Given the description of an element on the screen output the (x, y) to click on. 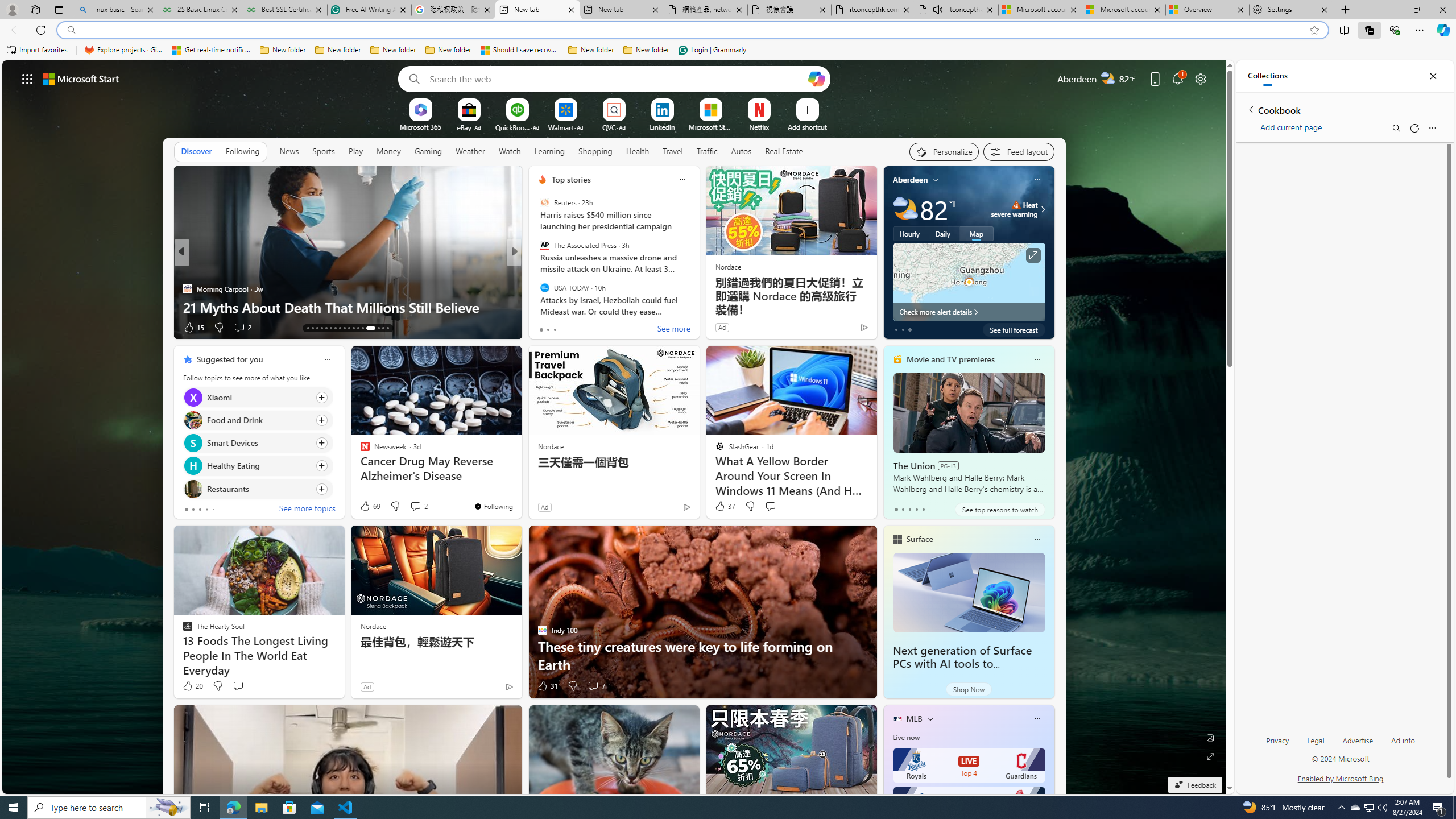
tab-0 (895, 509)
Weather (470, 151)
AutomationID: tab-27 (375, 328)
AutomationID: tab-18 (330, 328)
Legal (1315, 740)
AutomationID: tab-25 (362, 328)
Free AI Writing Assistance for Students | Grammarly (368, 9)
Enter your search term (617, 78)
